Given the description of an element on the screen output the (x, y) to click on. 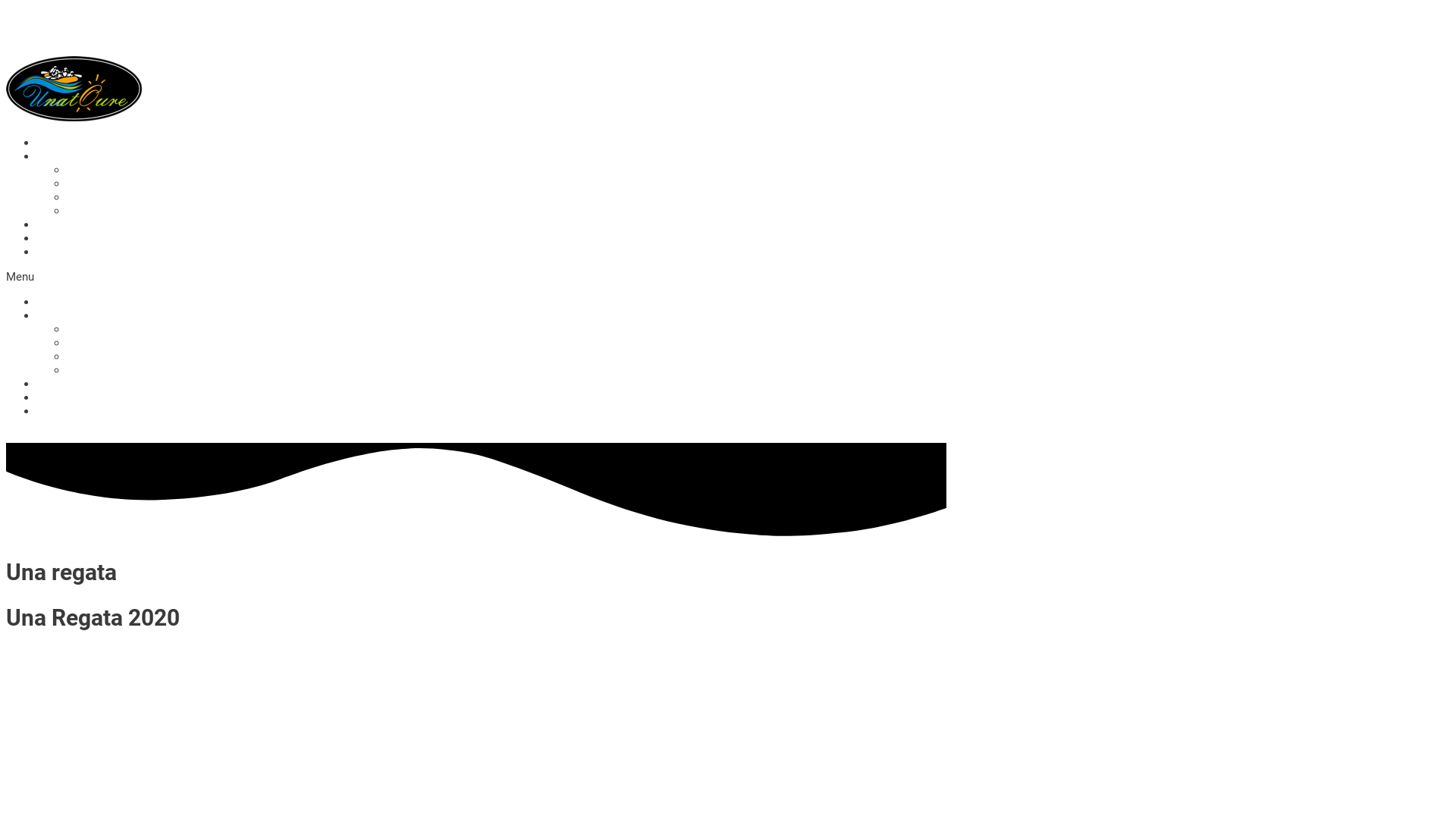
Instagram Element type: text (84, 435)
Ponuda Element type: text (55, 315)
Snimanje dronom Element type: text (111, 369)
Ronjenje Element type: text (88, 196)
Rafting Element type: text (84, 328)
Ponuda Element type: text (55, 156)
Kontaktirajte nas Element type: text (79, 237)
Ronjenje Element type: text (88, 356)
Kako do nas Element type: text (67, 251)
Foto i Video Galerija Element type: text (88, 224)
Naslovna Element type: text (60, 142)
Facebook Element type: text (32, 435)
Skip to content Element type: text (44, 12)
Naslovna Element type: text (60, 301)
Kako do nas Element type: text (67, 410)
Kontaktirajte nas Element type: text (79, 397)
Foto i Video Galerija Element type: text (88, 383)
Snimanje dronom Element type: text (111, 210)
Rafting Element type: text (84, 169)
